Given the description of an element on the screen output the (x, y) to click on. 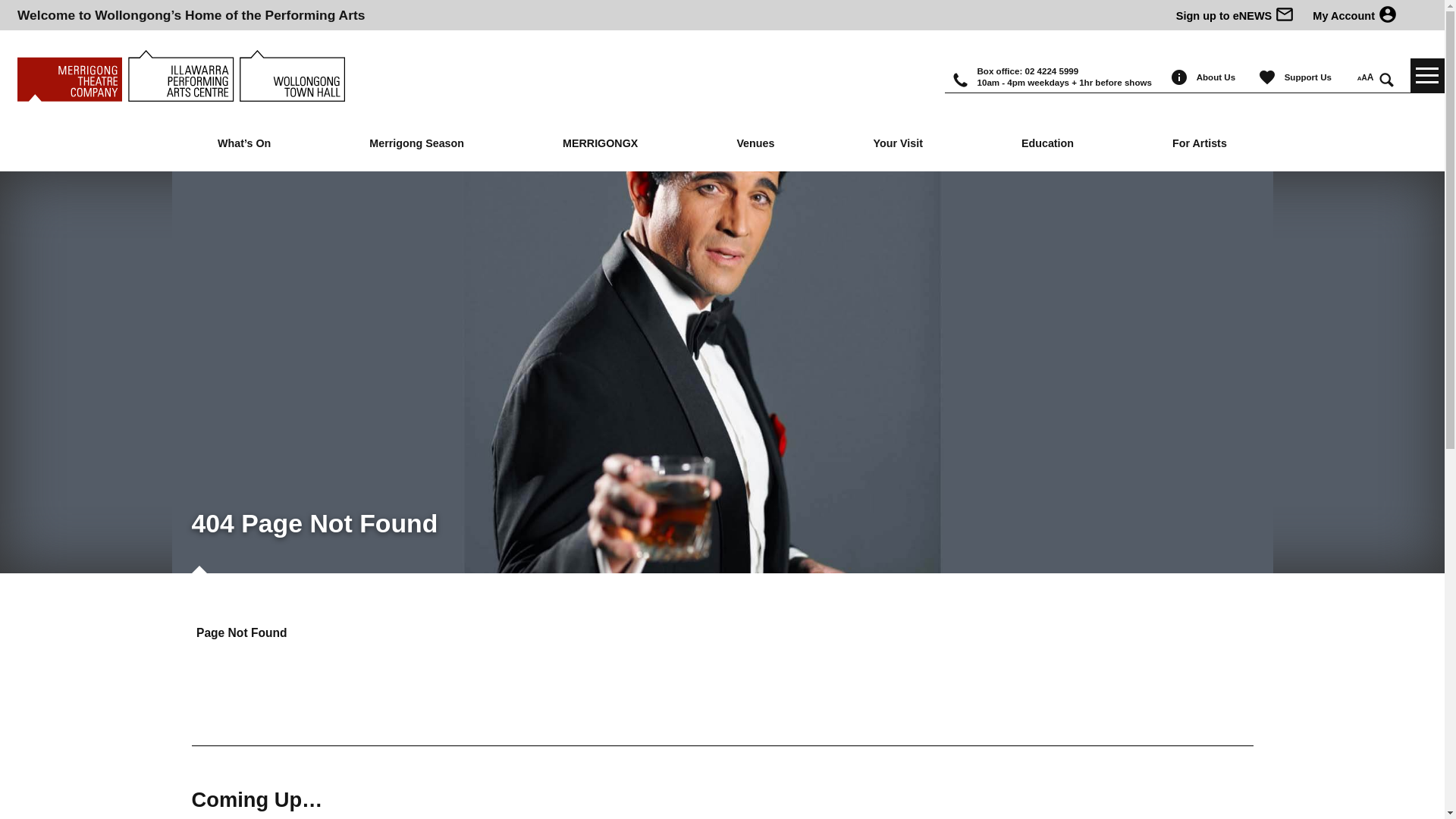
Education Element type: text (1046, 143)
info Element type: text (1183, 83)
A Element type: text (1359, 78)
A Element type: text (1370, 77)
Your Visit Element type: text (897, 143)
Sign up to eNEWS Element type: text (1225, 15)
MERRIGONGX Element type: text (599, 143)
mail_outline Element type: text (1284, 20)
About Us Element type: text (1217, 77)
account_circle Element type: text (1387, 20)
My Account Element type: text (1337, 15)
A Element type: text (1364, 77)
For Artists Element type: text (1199, 143)
favorite Element type: text (1271, 83)
Venues Element type: text (755, 143)
Merrigong Season Element type: text (416, 143)
Support Us Element type: text (1310, 77)
